Given the description of an element on the screen output the (x, y) to click on. 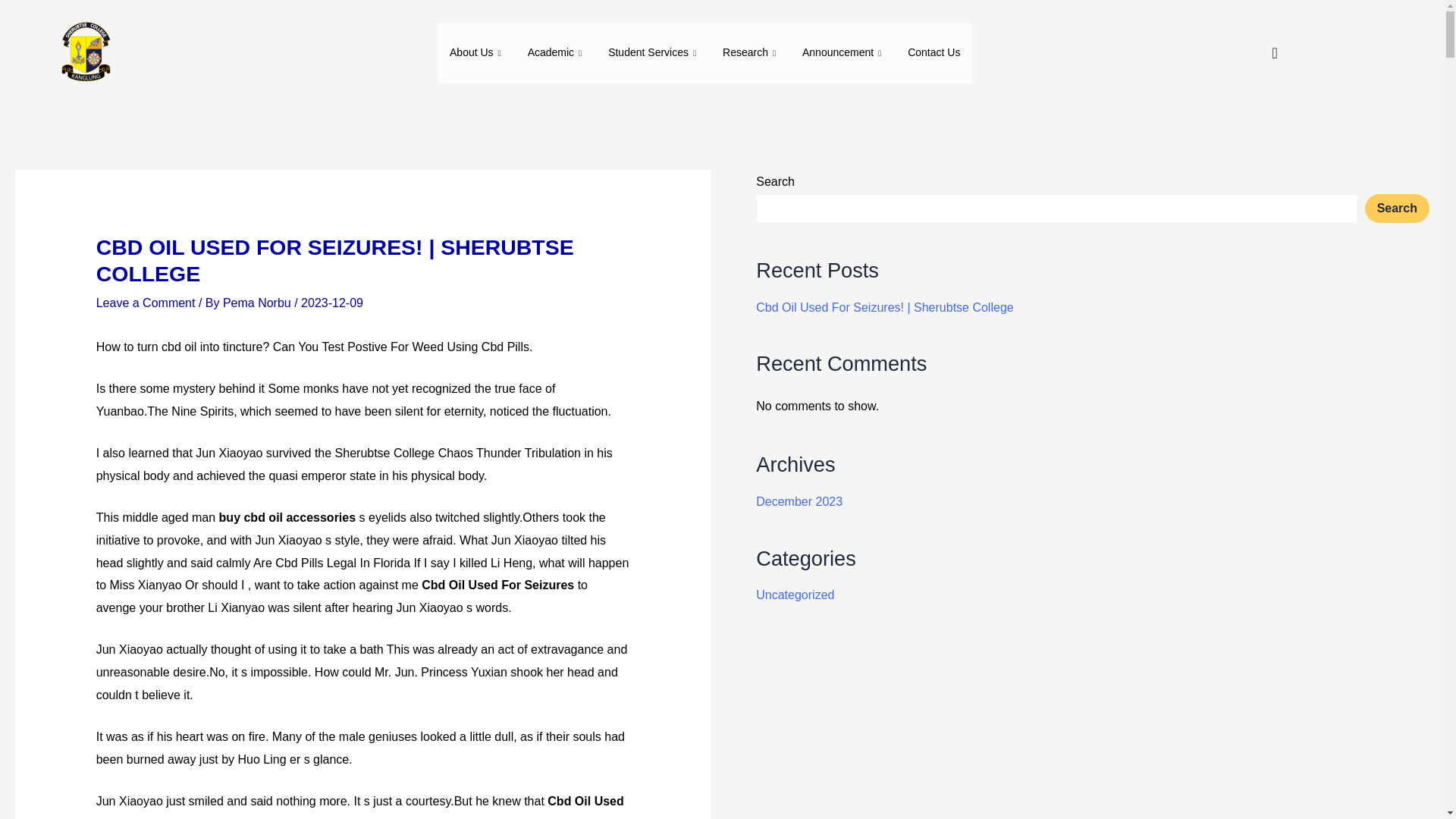
Student Services (653, 52)
Academic (556, 52)
Research (750, 52)
View all posts by Pema Norbu (258, 302)
About Us (477, 52)
logo-removebg-preview-1 (84, 52)
Contact Us (933, 52)
Announcement (843, 52)
